Given the description of an element on the screen output the (x, y) to click on. 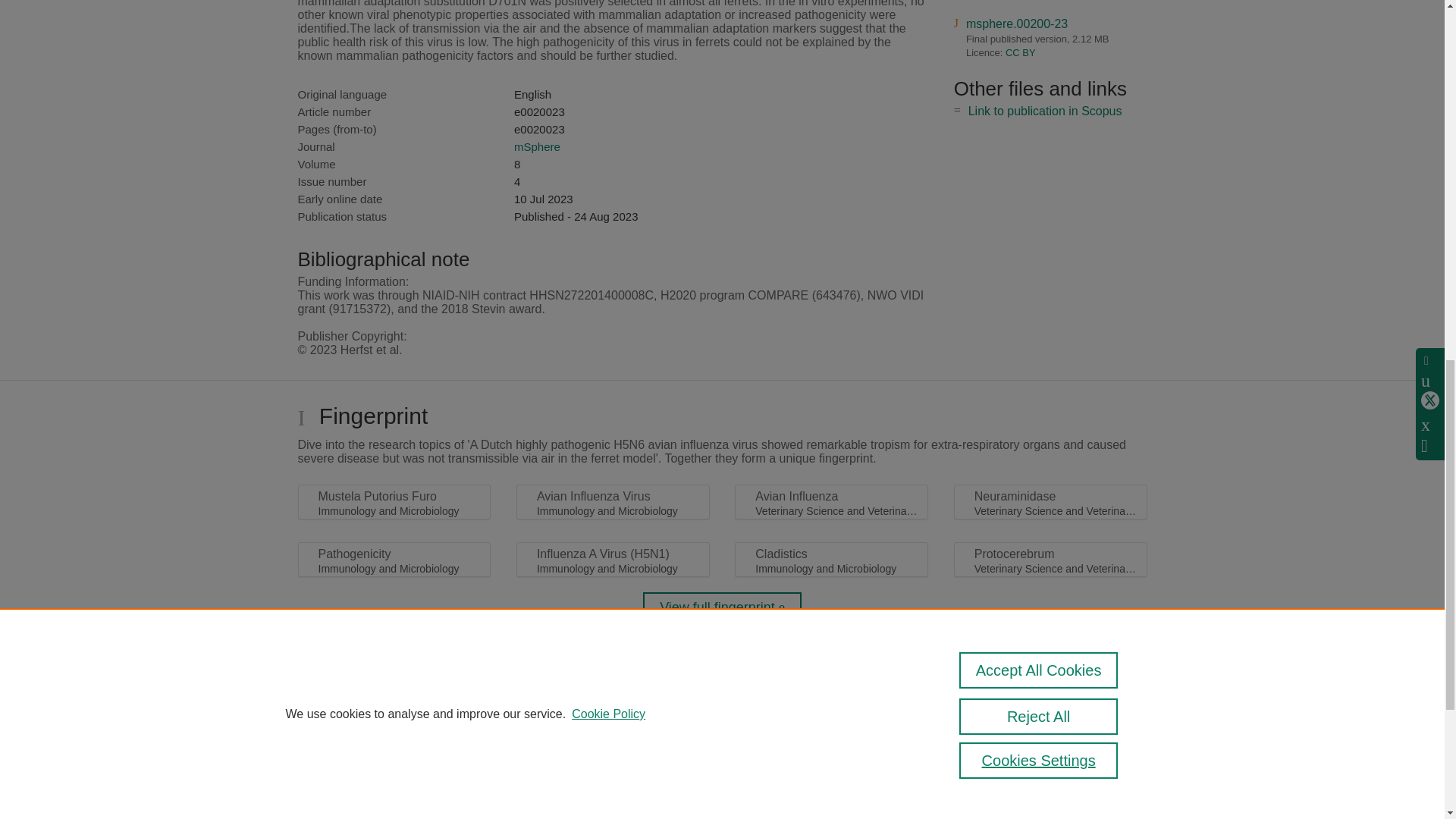
Link to publication in Scopus (1045, 110)
msphere.00200-23 (1016, 23)
mSphere (536, 146)
CC BY (1020, 52)
